Given the description of an element on the screen output the (x, y) to click on. 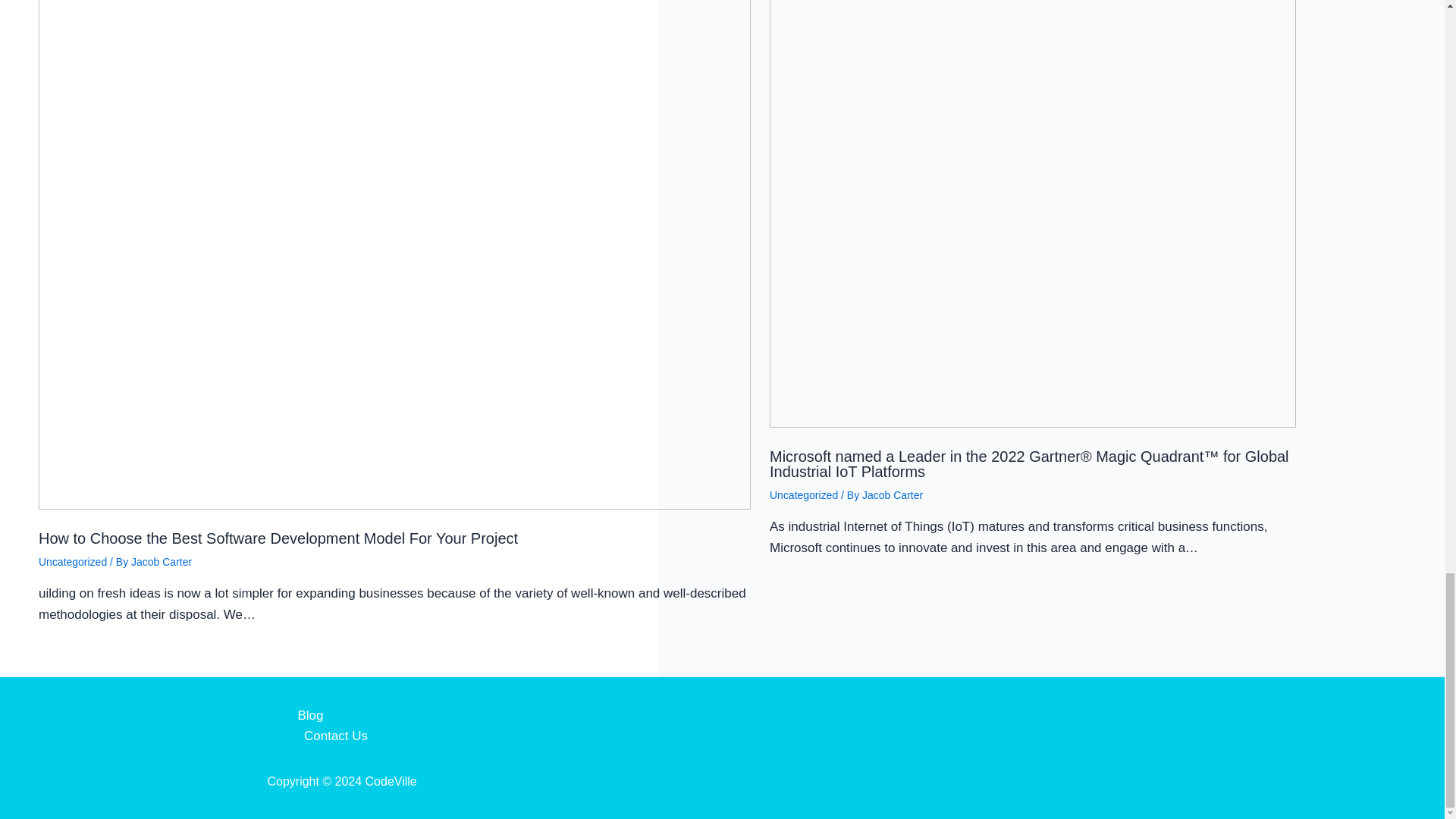
Uncategorized (804, 494)
View all posts by Jacob Carter (892, 494)
View all posts by Jacob Carter (161, 562)
Uncategorized (72, 562)
Jacob Carter (161, 562)
Jacob Carter (892, 494)
